Given the description of an element on the screen output the (x, y) to click on. 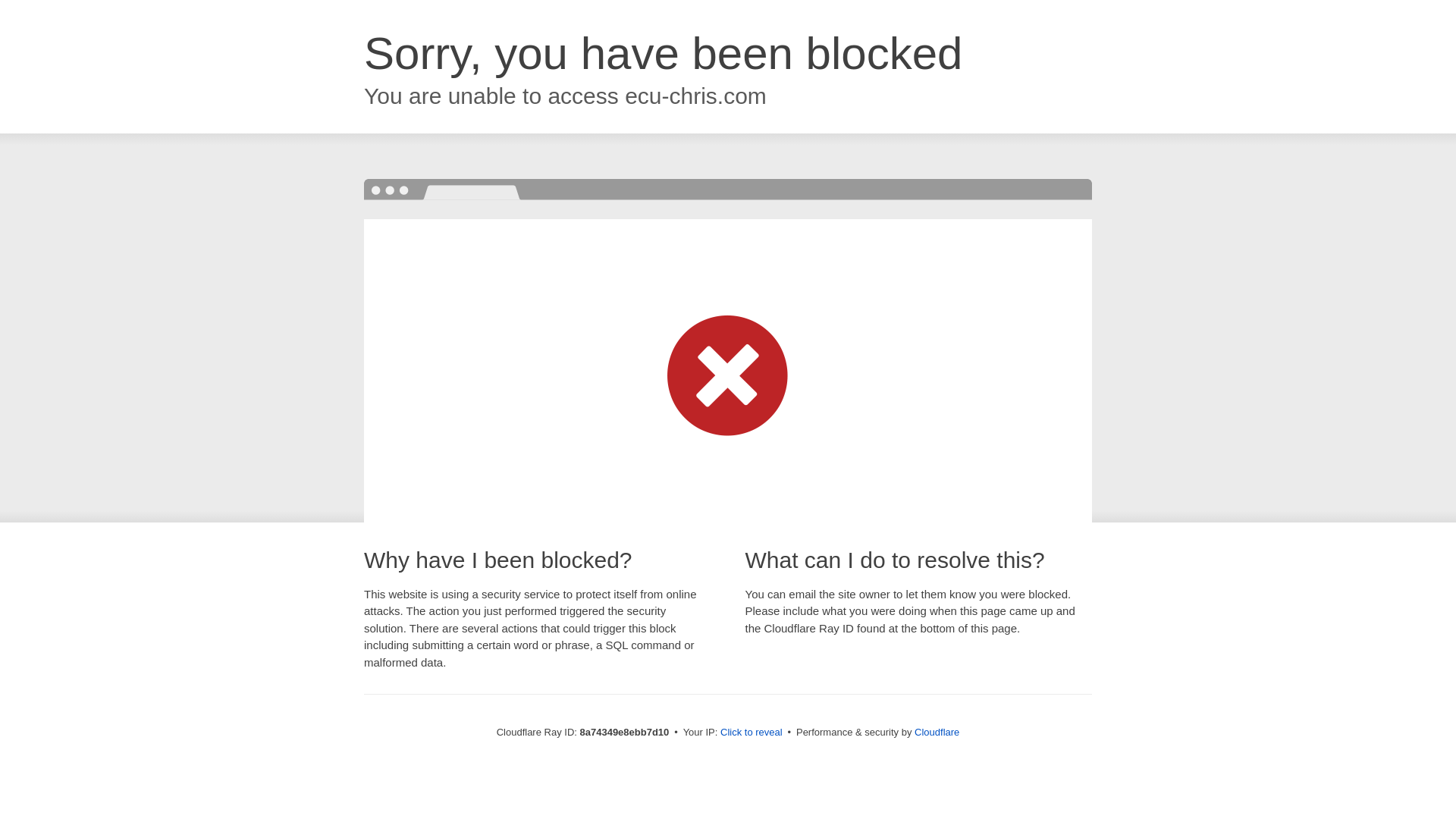
Cloudflare (936, 731)
Click to reveal (751, 732)
